Given the description of an element on the screen output the (x, y) to click on. 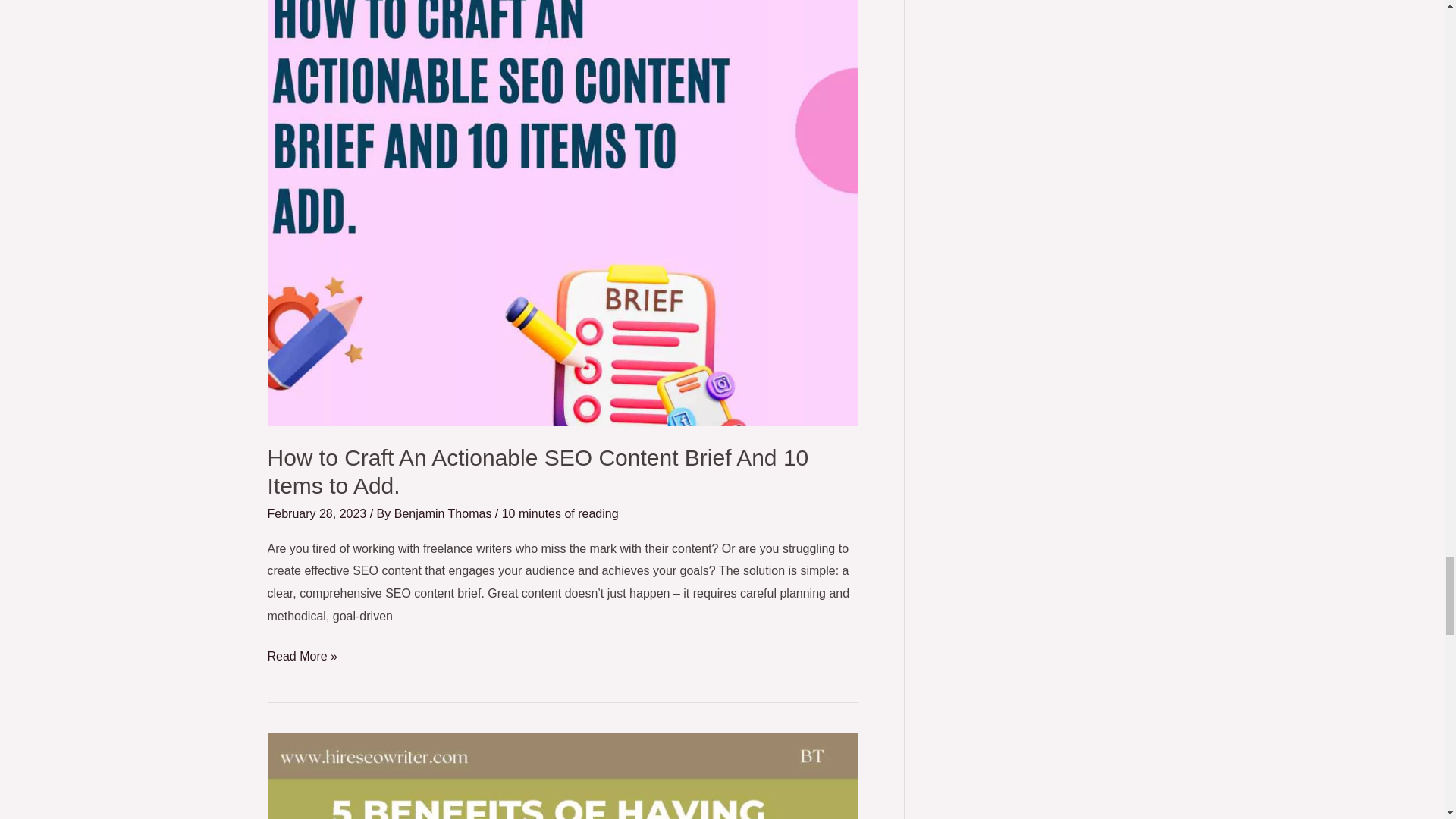
View all posts by Benjamin Thomas (444, 513)
